Given the description of an element on the screen output the (x, y) to click on. 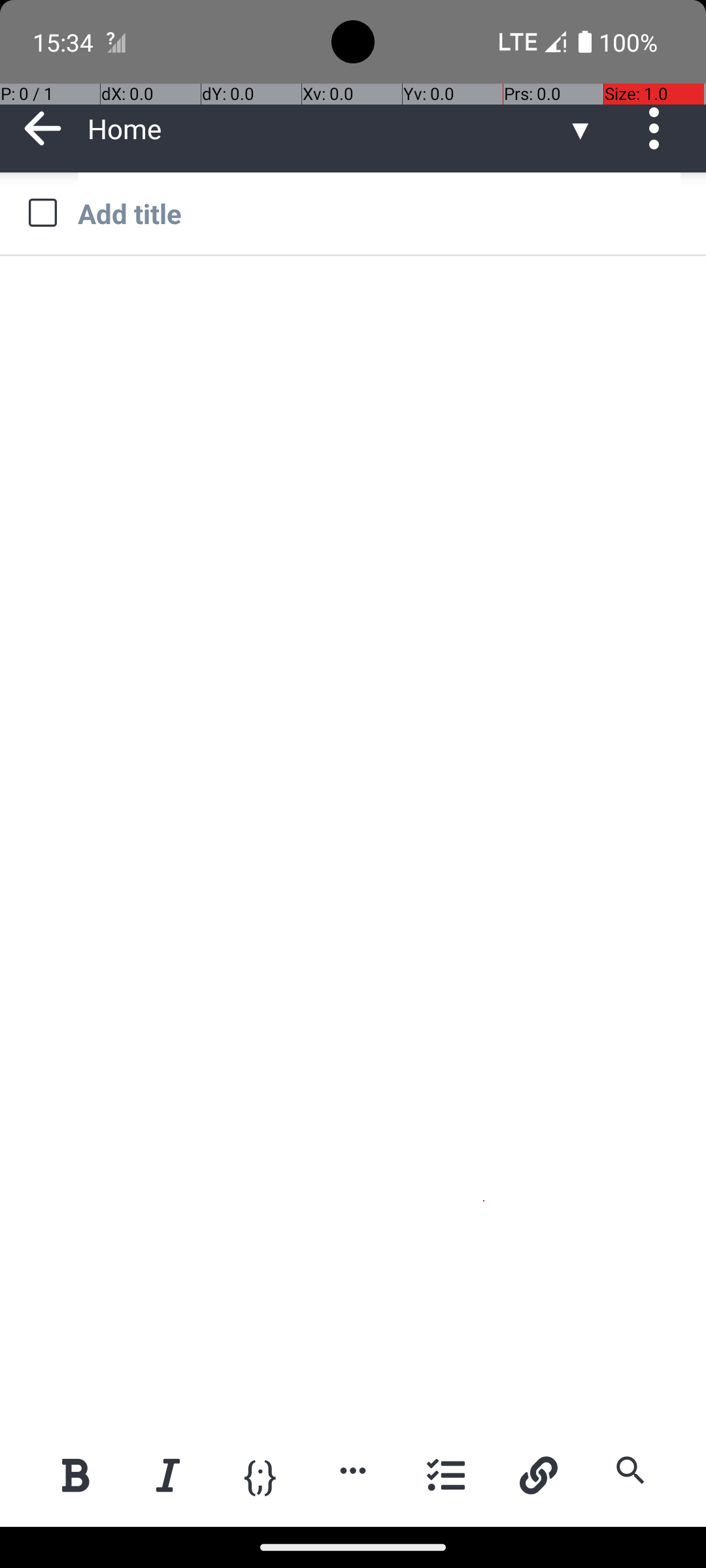
Add title Element type: android.widget.EditText (378, 213)

 Element type: android.widget.EditText (354, 298)
